Given the description of an element on the screen output the (x, y) to click on. 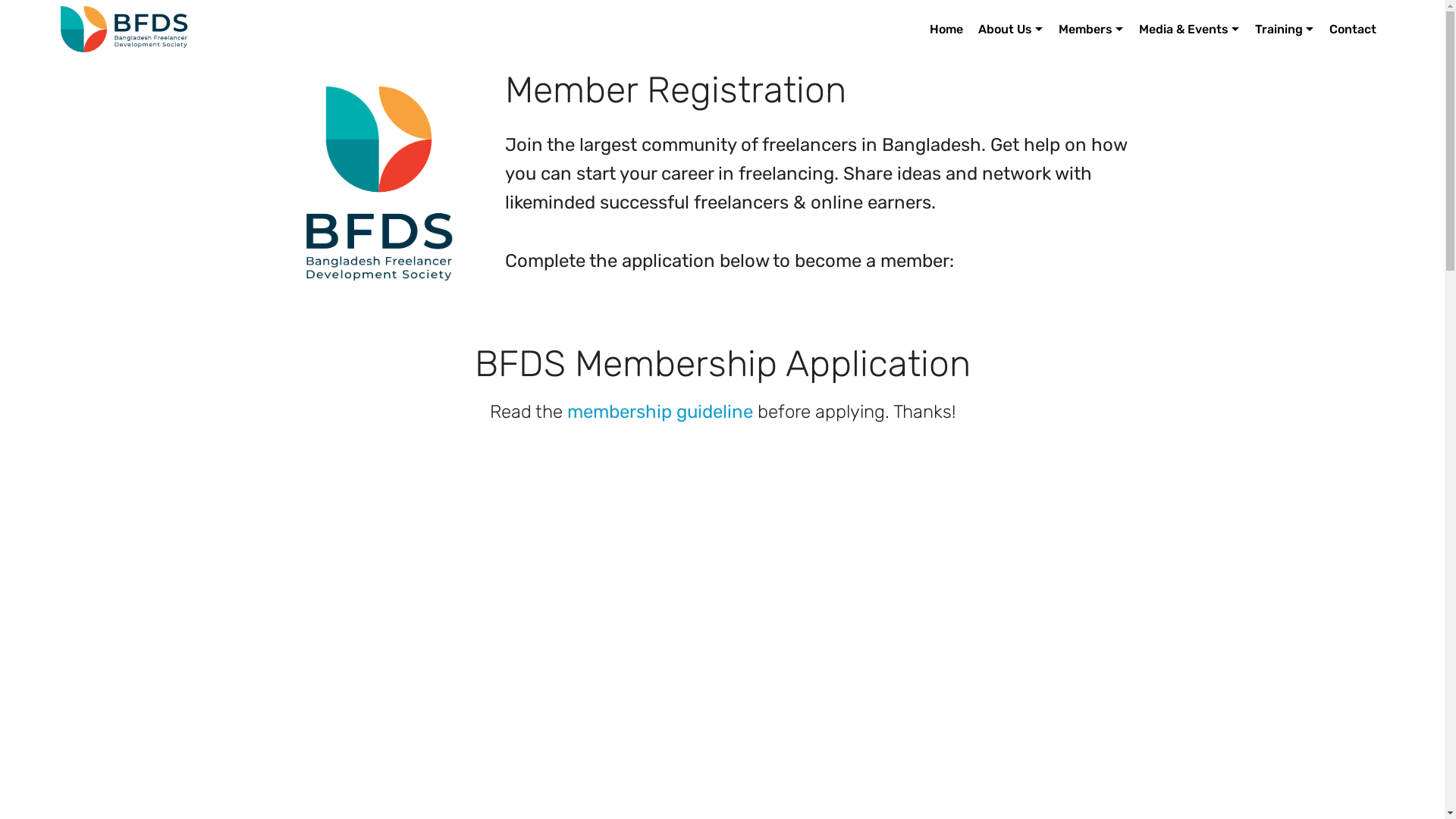
About Us Element type: text (1010, 28)
membership guideline Element type: text (660, 411)
Contact Element type: text (1352, 28)
Members Element type: text (1090, 28)
Home Element type: text (946, 28)
Training Element type: text (1284, 28)
Media & Events Element type: text (1189, 28)
